Given the description of an element on the screen output the (x, y) to click on. 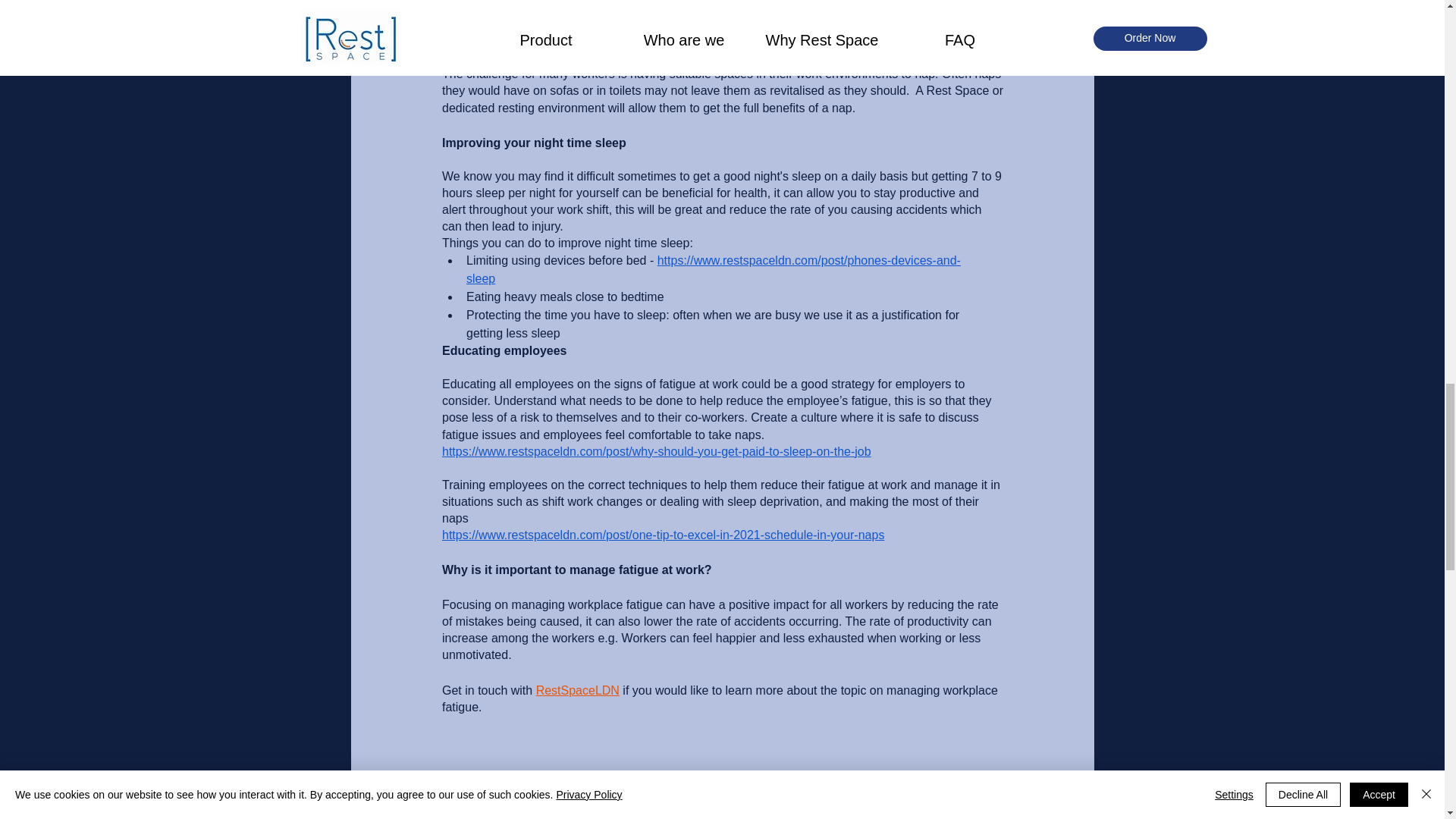
RestSpaceLDN (576, 689)
fatigue management (499, 798)
